Given the description of an element on the screen output the (x, y) to click on. 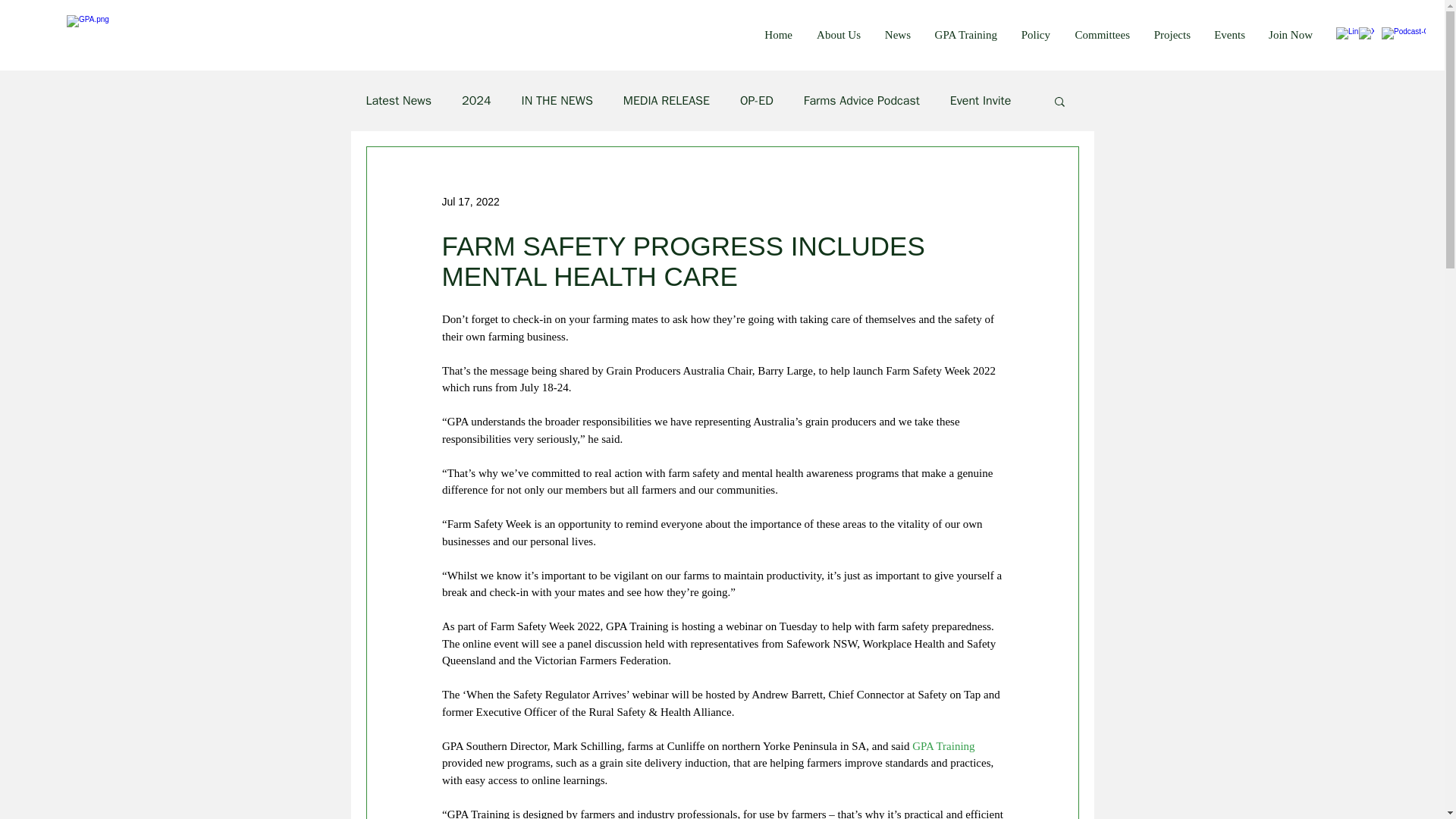
2024 (475, 100)
News (892, 34)
Jul 17, 2022 (470, 201)
Join Now (1286, 34)
GPA Training (961, 34)
Home (773, 34)
Policy (1031, 34)
Events (1225, 34)
Latest News (397, 100)
Committees (1097, 34)
IN THE NEWS (556, 100)
